Given the description of an element on the screen output the (x, y) to click on. 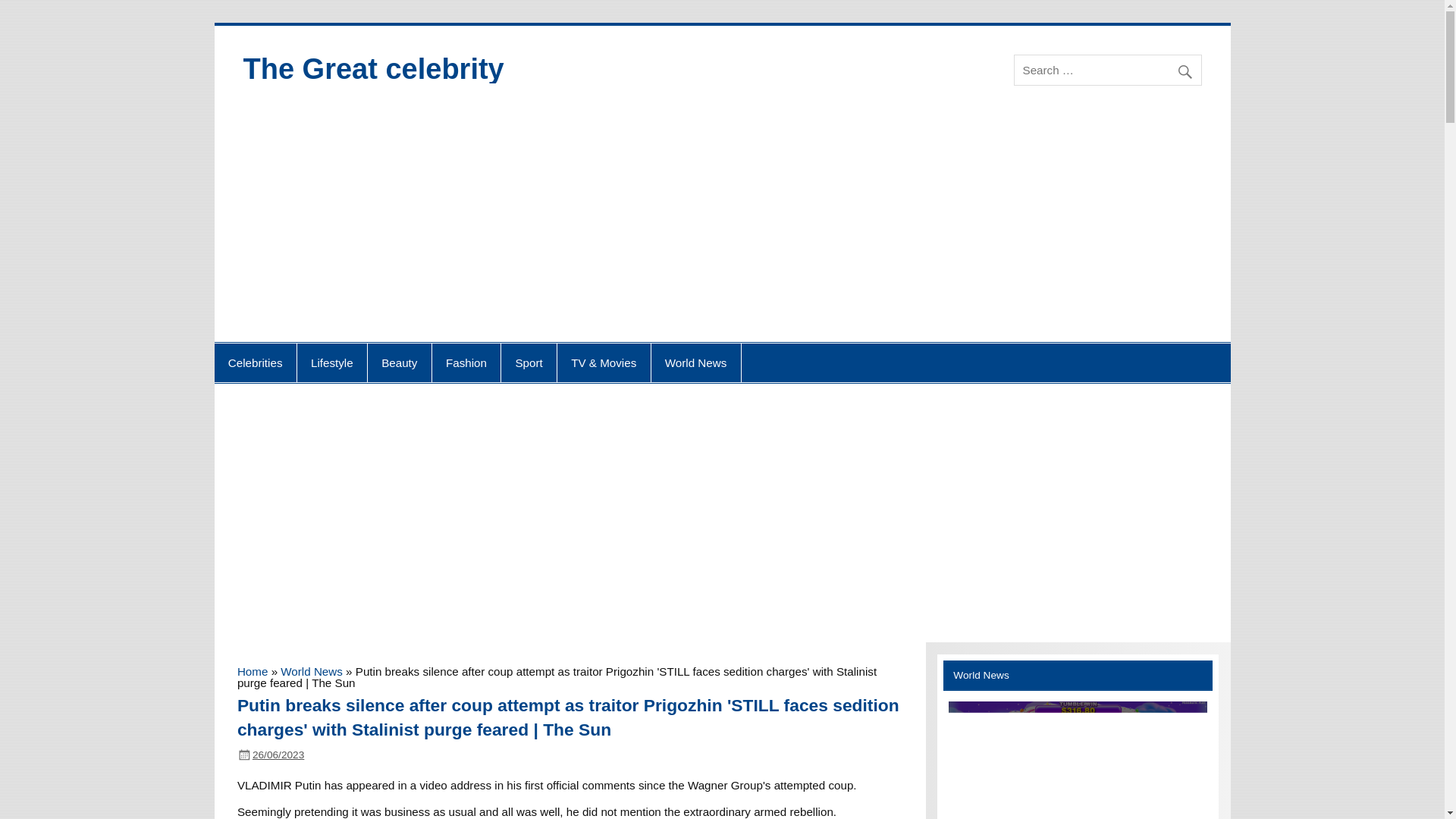
World News (695, 363)
Celebrities (254, 363)
Beauty (399, 363)
Sport (528, 363)
Lifestyle (331, 363)
12:36 (277, 754)
Fashion (466, 363)
World News (311, 671)
The Guide to Winning Big in Sweet Bonanza Online Slot (1078, 760)
